Given the description of an element on the screen output the (x, y) to click on. 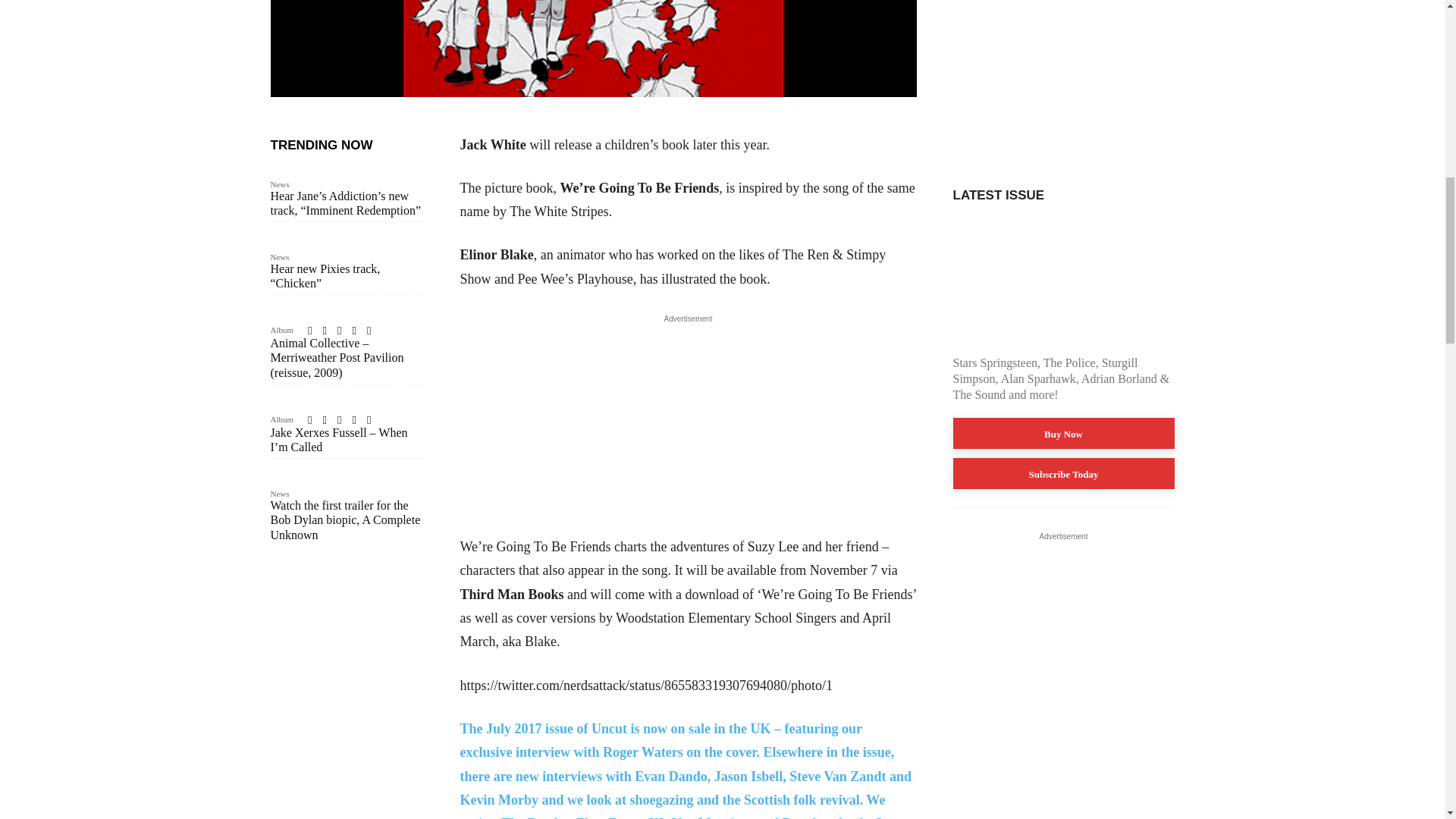
wgtbf (592, 48)
